Given the description of an element on the screen output the (x, y) to click on. 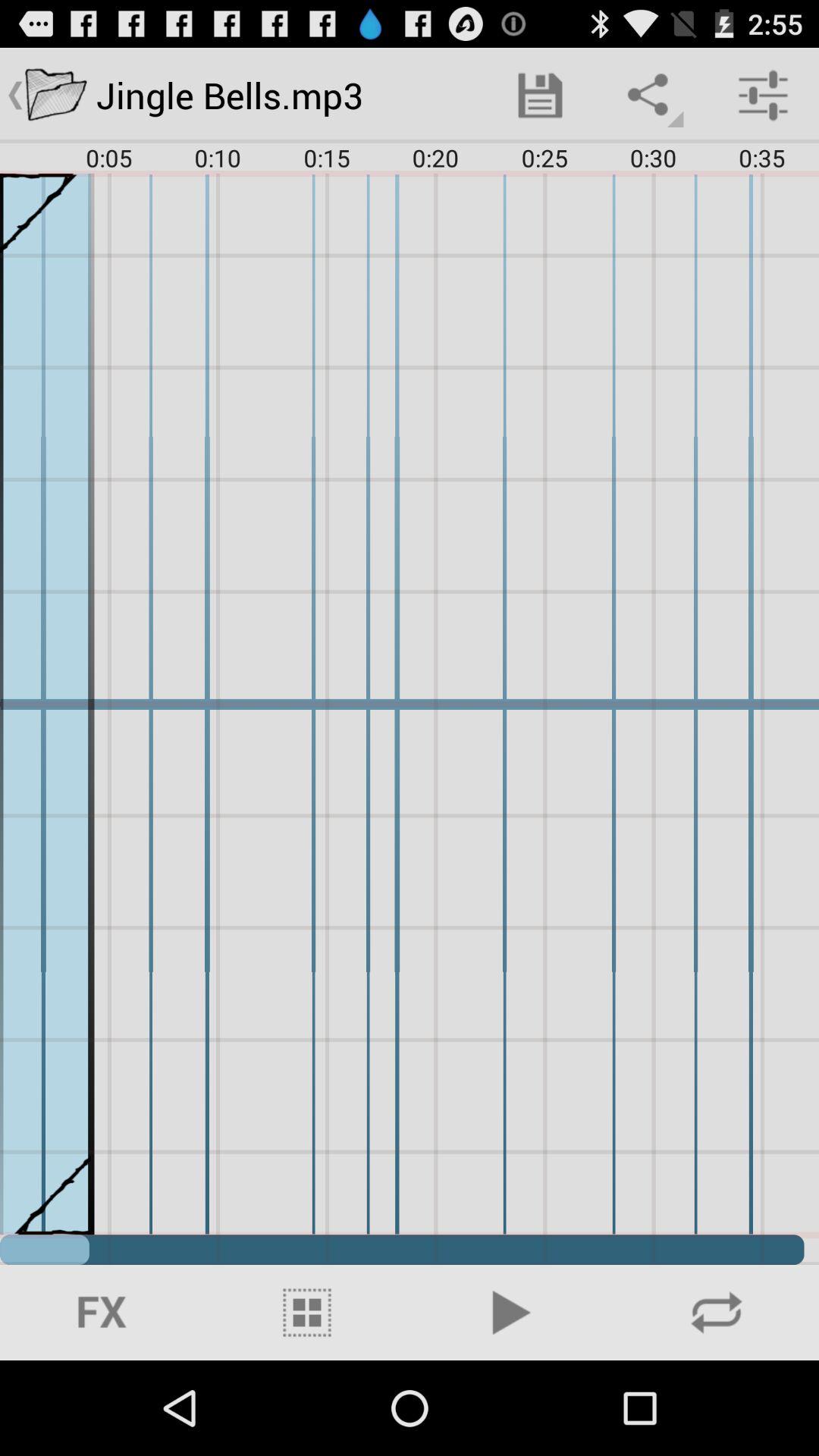
turn off icon to the right of jingle bells.mp3 item (540, 95)
